Given the description of an element on the screen output the (x, y) to click on. 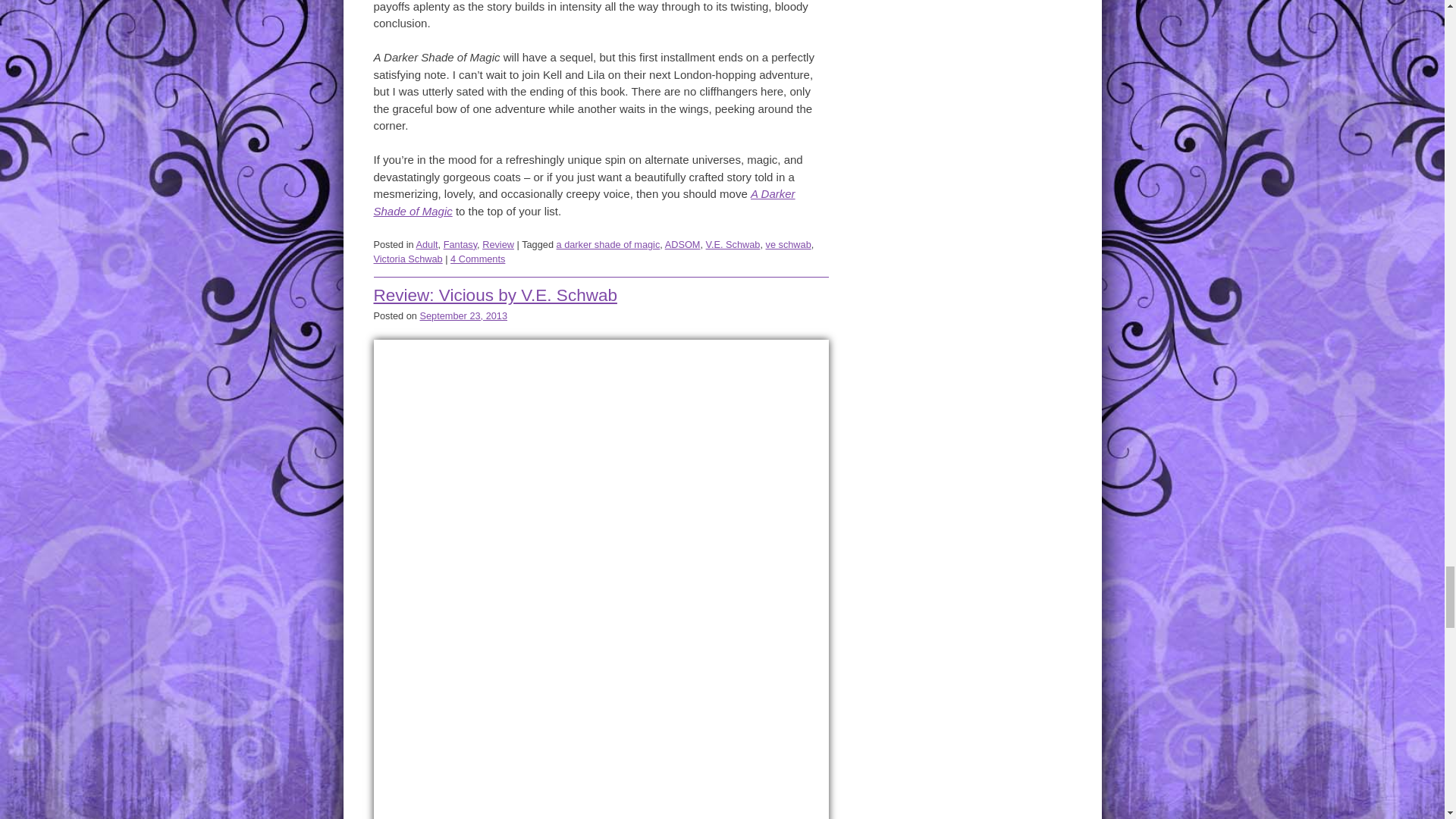
Permalink to Review: Vicious by V.E. Schwab (493, 294)
9:29 pm (462, 315)
